Given the description of an element on the screen output the (x, y) to click on. 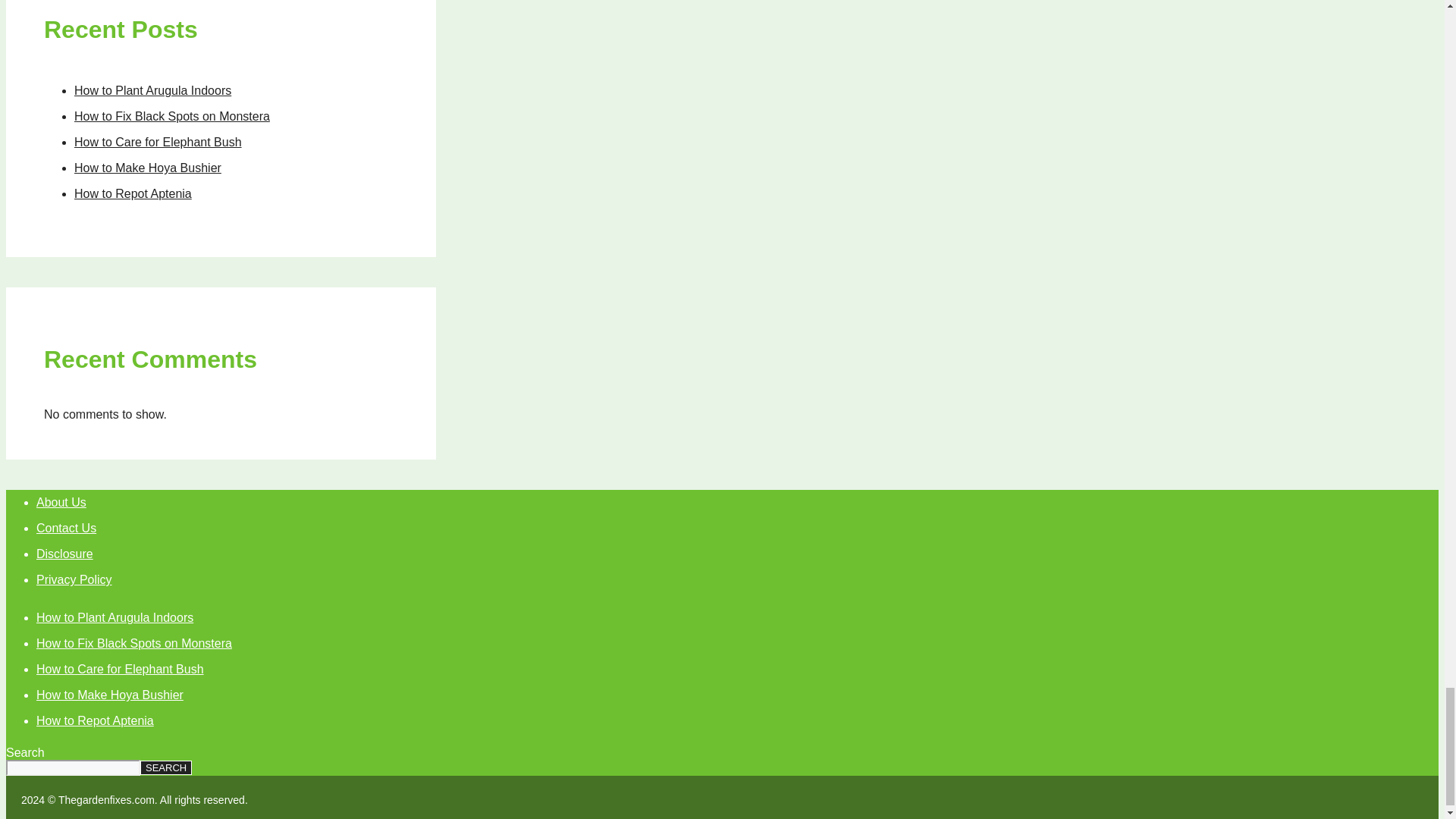
Disclosure (64, 553)
How to Plant Arugula Indoors (152, 90)
SEARCH (165, 767)
How to Repot Aptenia (95, 720)
How to Make Hoya Bushier (109, 694)
How to Plant Arugula Indoors (114, 617)
How to Care for Elephant Bush (157, 141)
Contact Us (66, 527)
How to Fix Black Spots on Monstera (171, 115)
How to Care for Elephant Bush (119, 668)
How to Fix Black Spots on Monstera (133, 643)
How to Repot Aptenia (133, 193)
How to Make Hoya Bushier (147, 167)
Privacy Policy (74, 579)
About Us (60, 502)
